Given the description of an element on the screen output the (x, y) to click on. 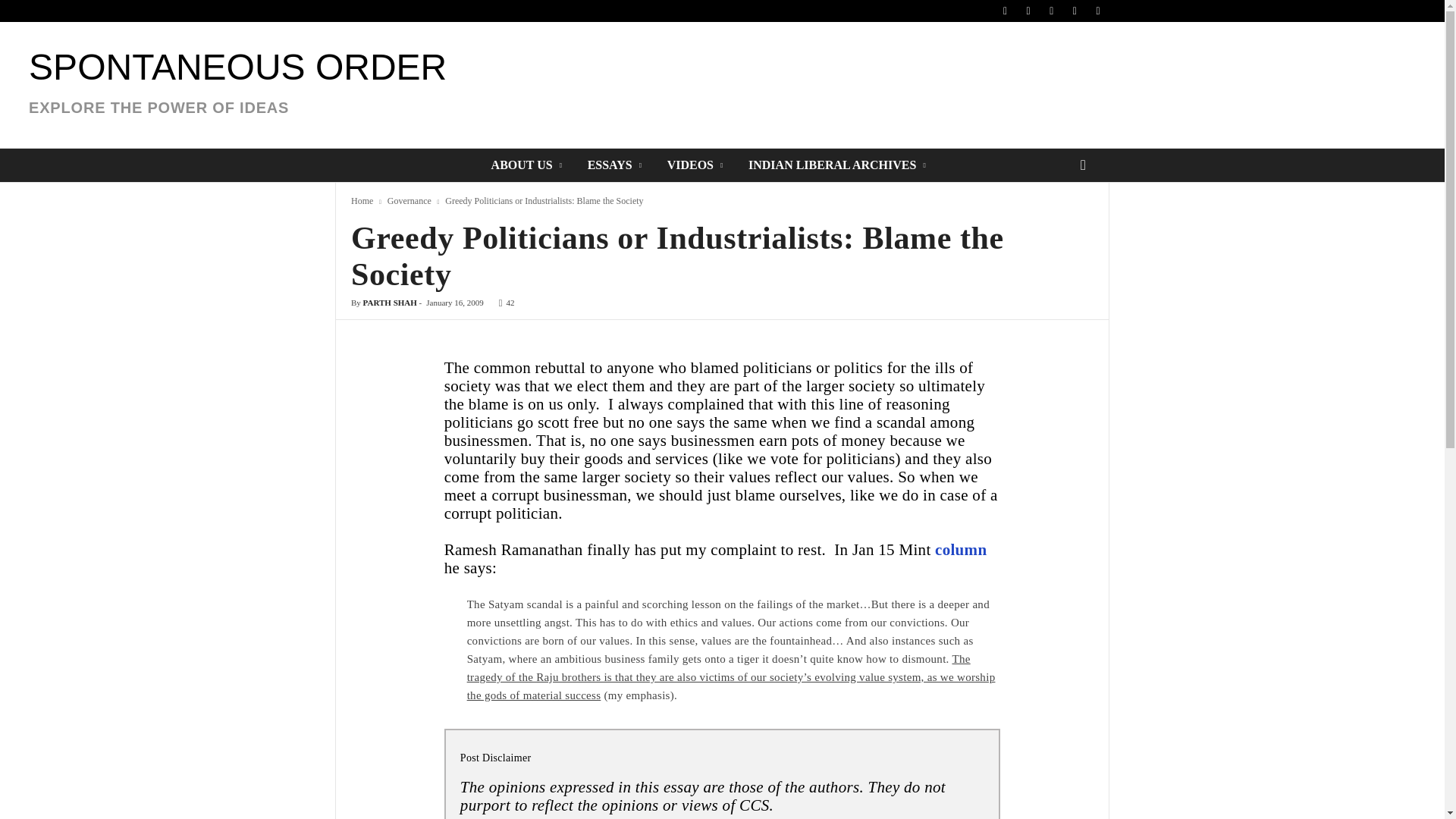
ABOUT US (528, 164)
ESSAYS (237, 88)
View all posts in Governance (616, 164)
VIDEOS (408, 200)
